Given the description of an element on the screen output the (x, y) to click on. 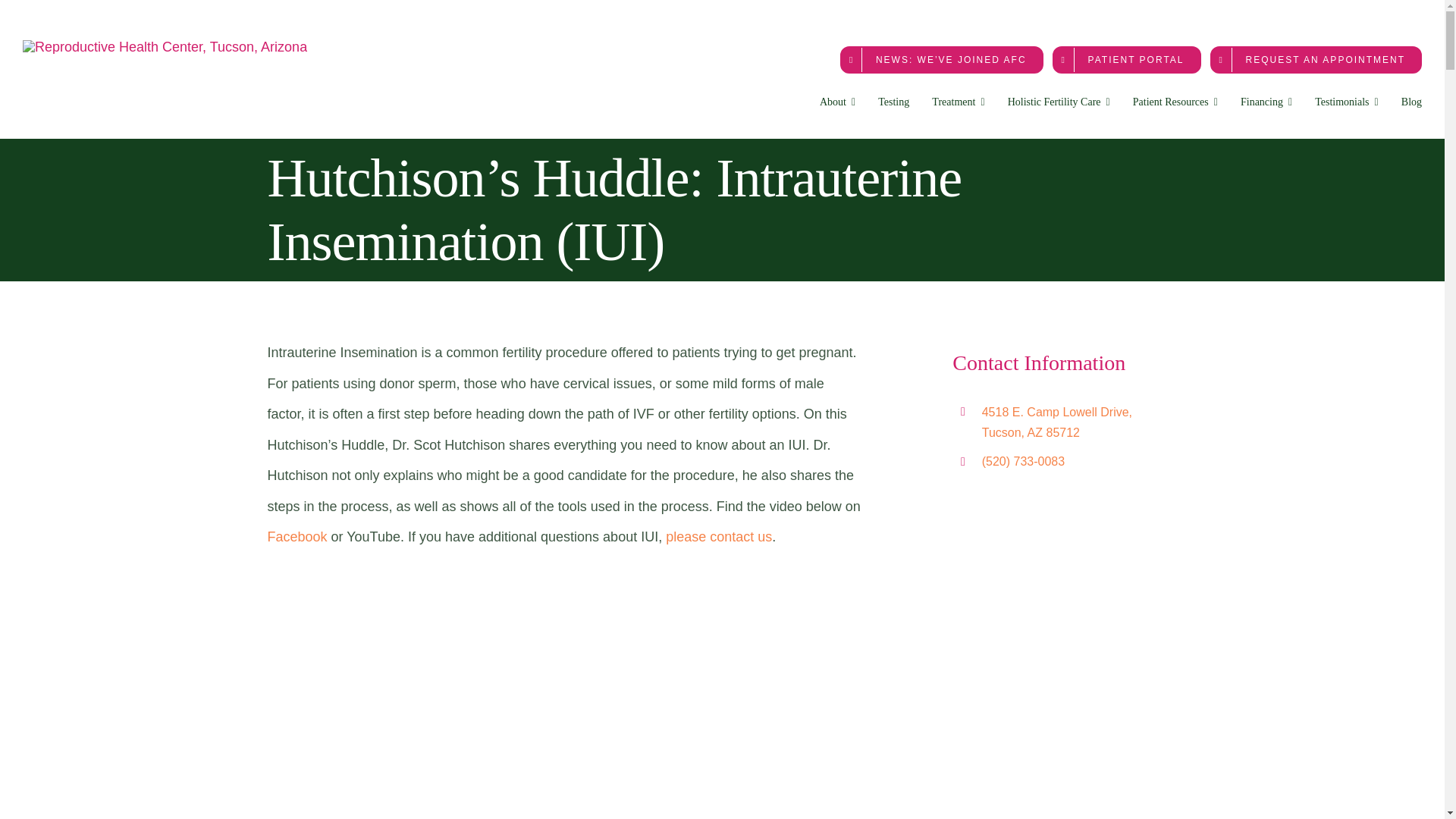
PATIENT PORTAL (1126, 59)
Testing (892, 102)
Treatment (957, 102)
About (837, 102)
REQUEST AN APPOINTMENT (1315, 59)
